Given the description of an element on the screen output the (x, y) to click on. 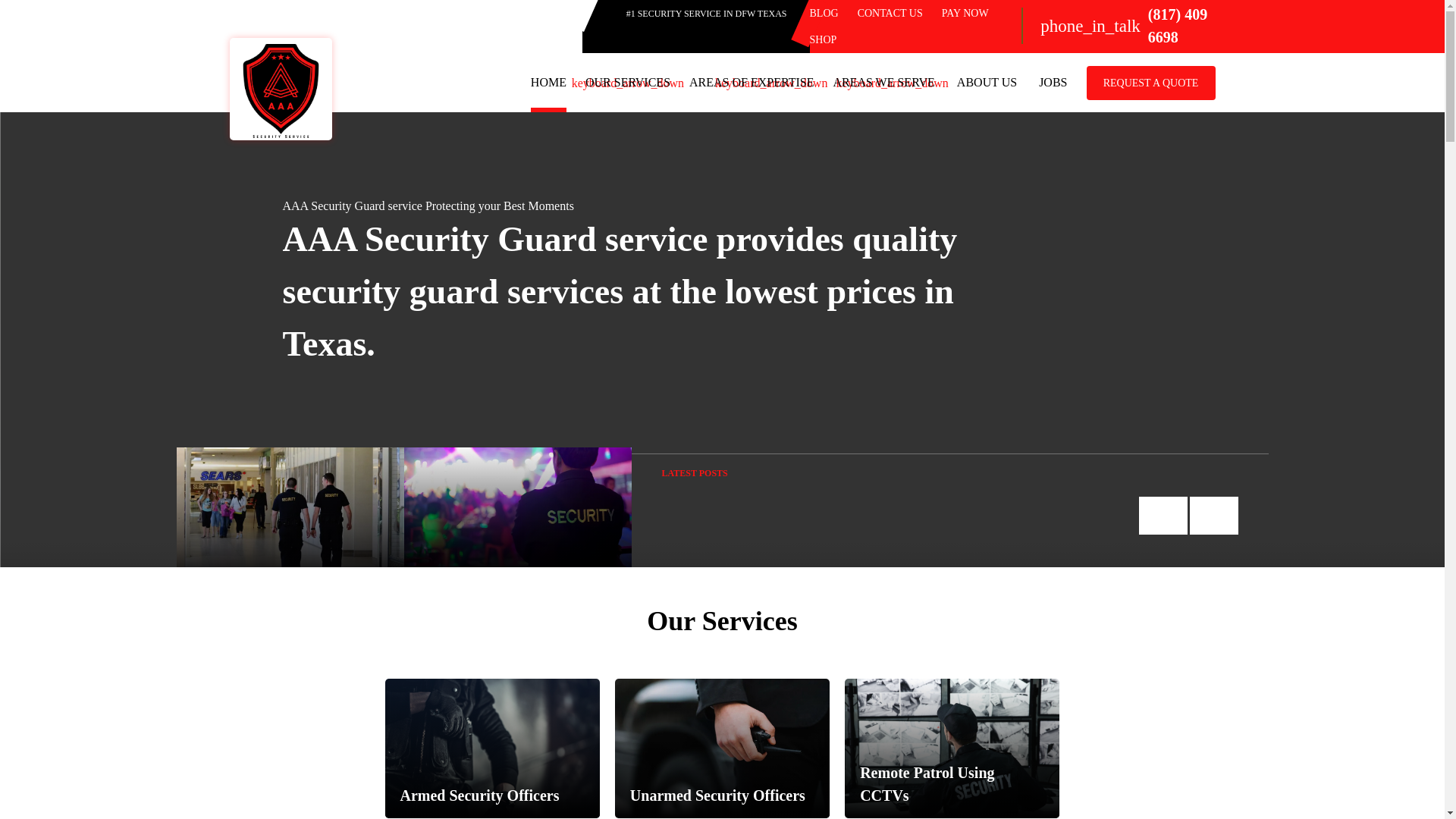
AREAS WE SERVE (883, 82)
AREAS OF EXPERTISE (750, 82)
BLOG (823, 12)
OUR SERVICES (627, 82)
SHOP (823, 39)
PAY NOW (965, 12)
Texas (324, 343)
CONTACT US (890, 12)
ABOUT US (986, 82)
